Given the description of an element on the screen output the (x, y) to click on. 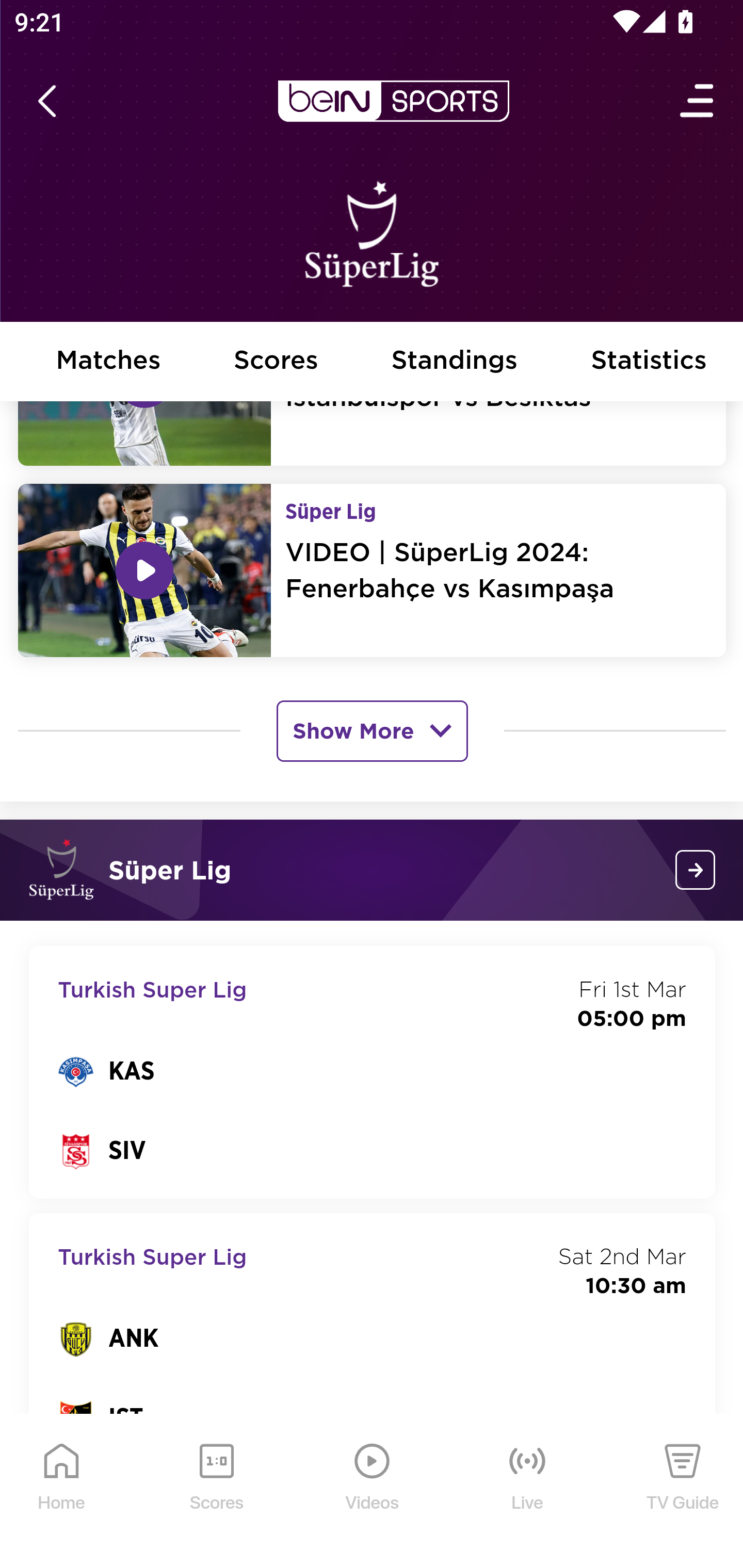
en-us?platform=mobile_android bein logo white (392, 101)
icon back (46, 101)
Open Menu Icon (697, 101)
Matches (107, 361)
Scores (275, 361)
Standings (454, 361)
Statistics (649, 361)
Show More (371, 731)
sper-lig?platform=mobile_android (695, 870)
Home Home Icon Home (61, 1493)
Scores Scores Icon Scores (216, 1493)
Videos Videos Icon Videos (372, 1493)
TV Guide TV Guide Icon TV Guide (682, 1493)
